Given the description of an element on the screen output the (x, y) to click on. 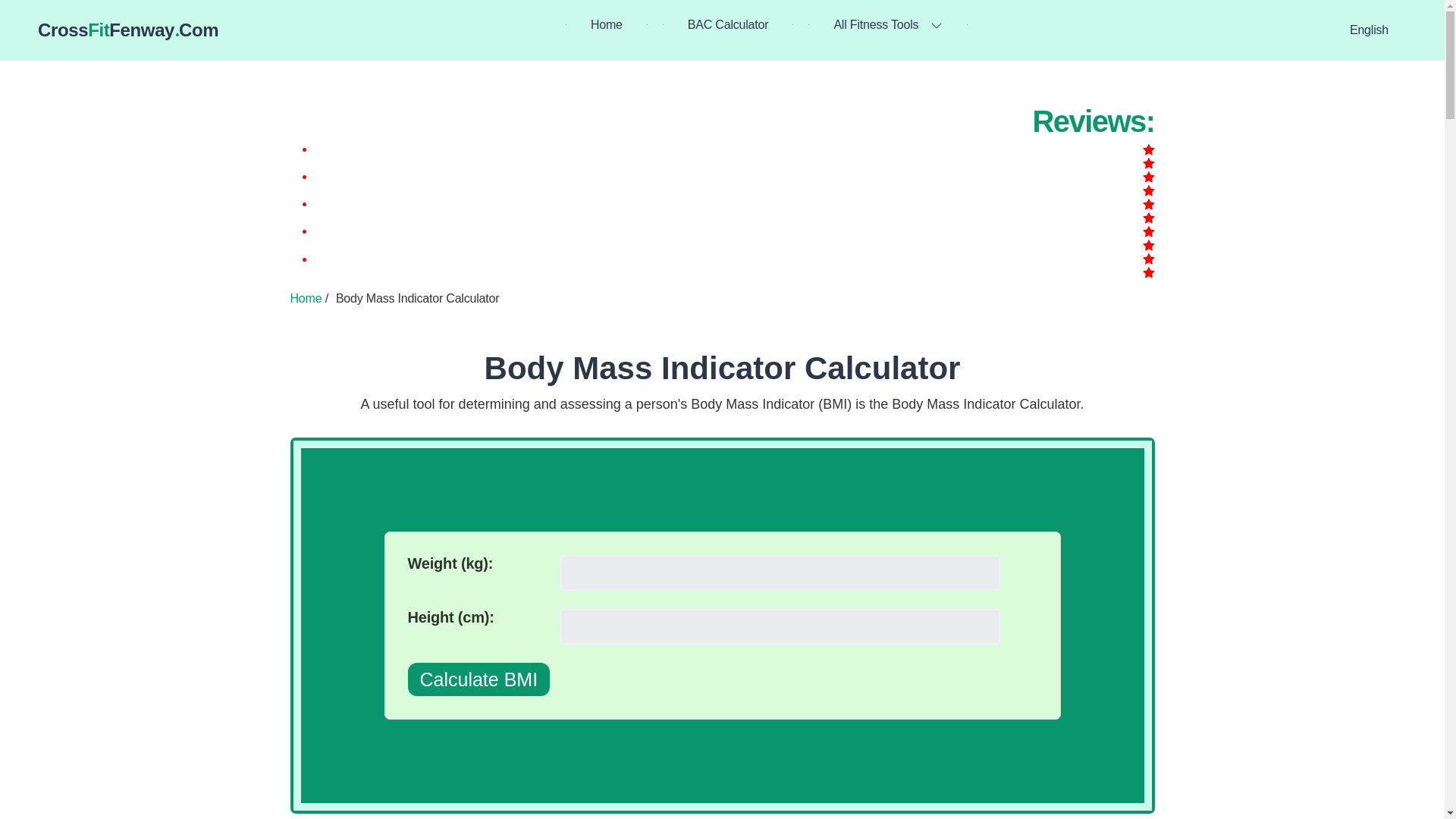
Home (607, 24)
BAC Calculator (727, 24)
Home (305, 297)
Calculate BMI (478, 679)
Body Mass Indicator Calculator (722, 367)
